Given the description of an element on the screen output the (x, y) to click on. 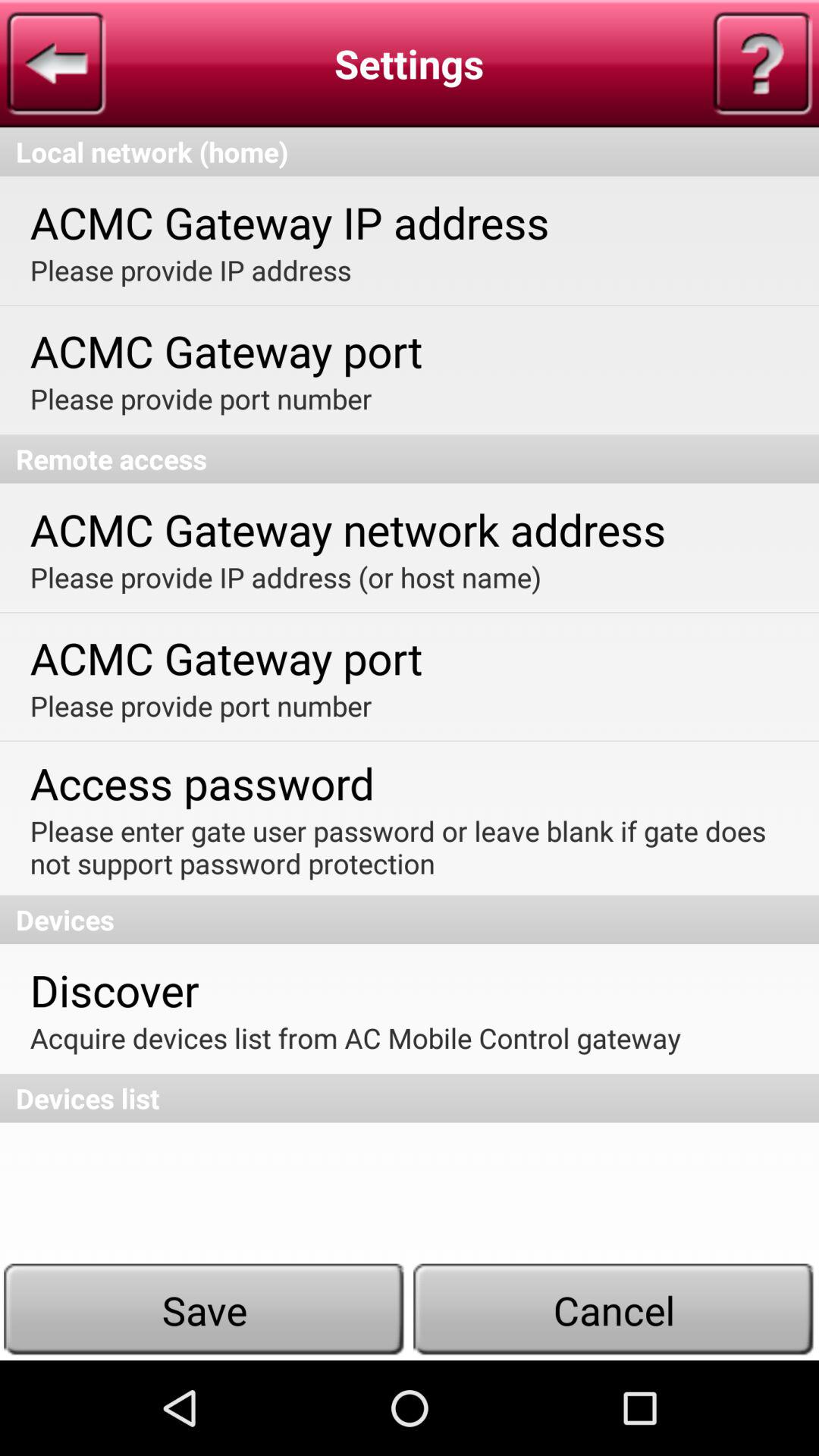
click for help (762, 63)
